Given the description of an element on the screen output the (x, y) to click on. 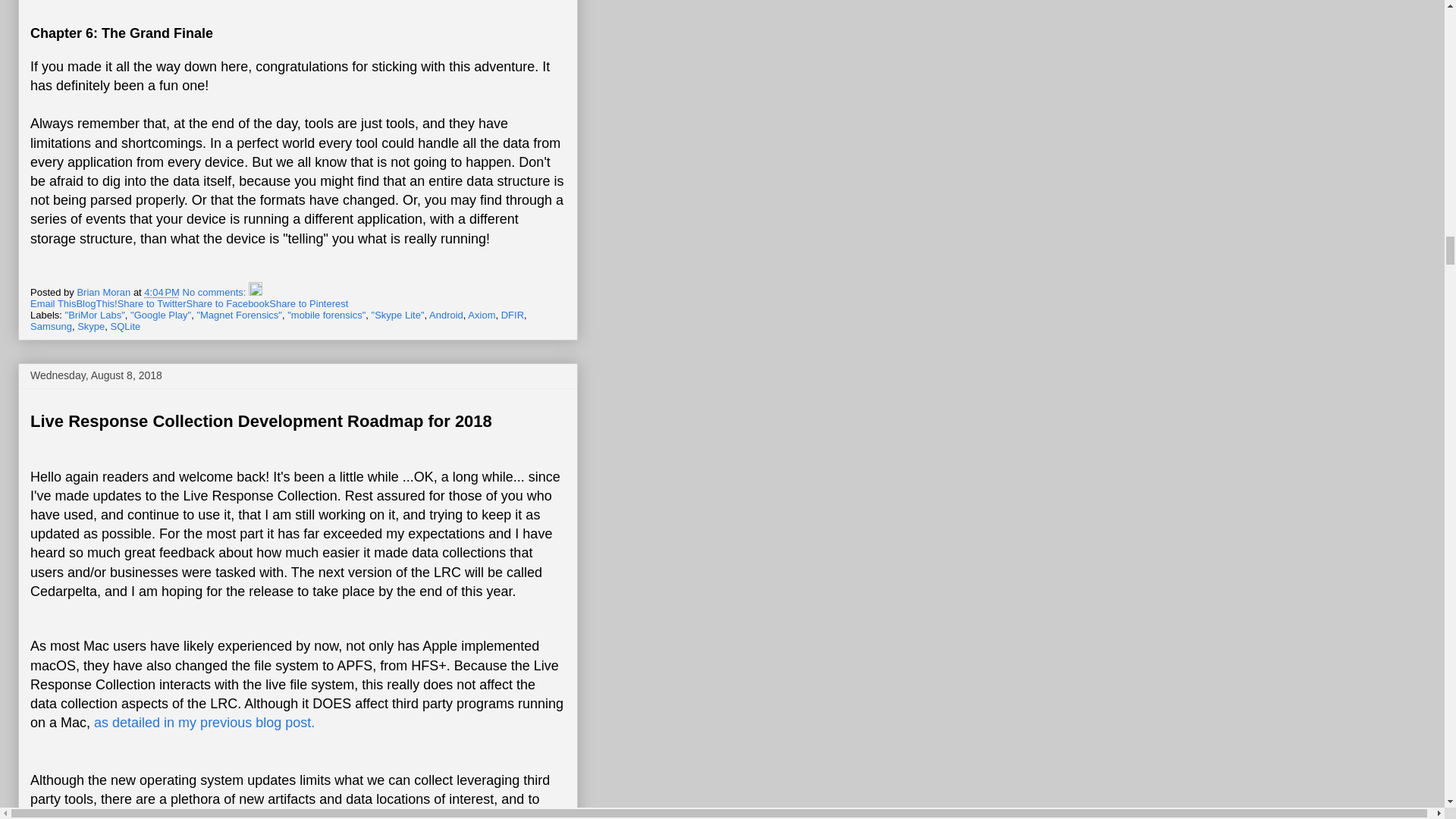
Brian Moran (104, 292)
BlogThis! (95, 303)
BlogThis! (95, 303)
No comments: (215, 292)
"Magnet Forensics" (239, 315)
author profile (104, 292)
Email This (52, 303)
"mobile forensics" (325, 315)
Share to Twitter (151, 303)
Share to Twitter (151, 303)
Android (446, 315)
Samsung (50, 326)
"Skype Lite" (398, 315)
Share to Pinterest (308, 303)
